Given the description of an element on the screen output the (x, y) to click on. 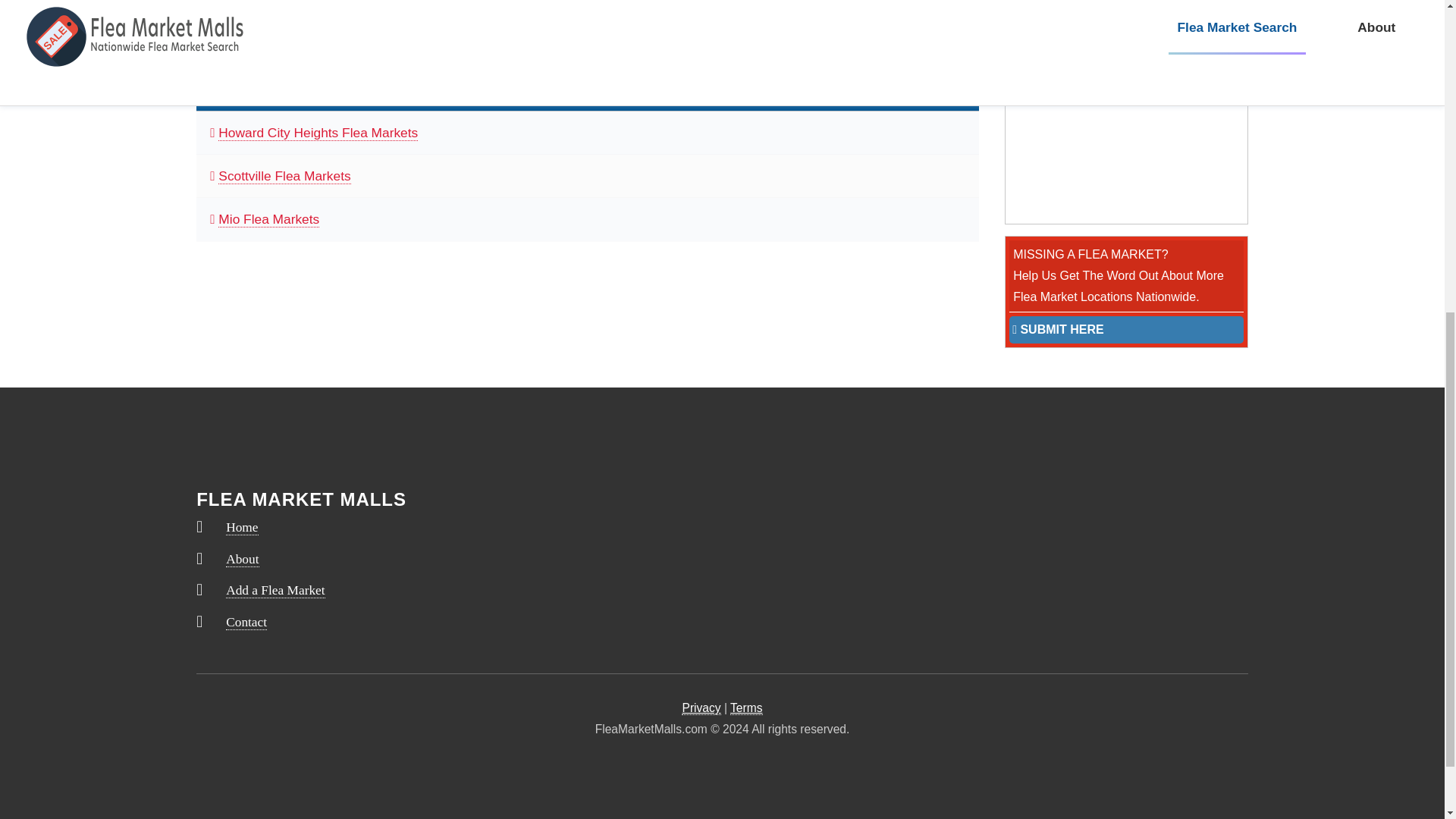
Advertisement (1126, 128)
